Given the description of an element on the screen output the (x, y) to click on. 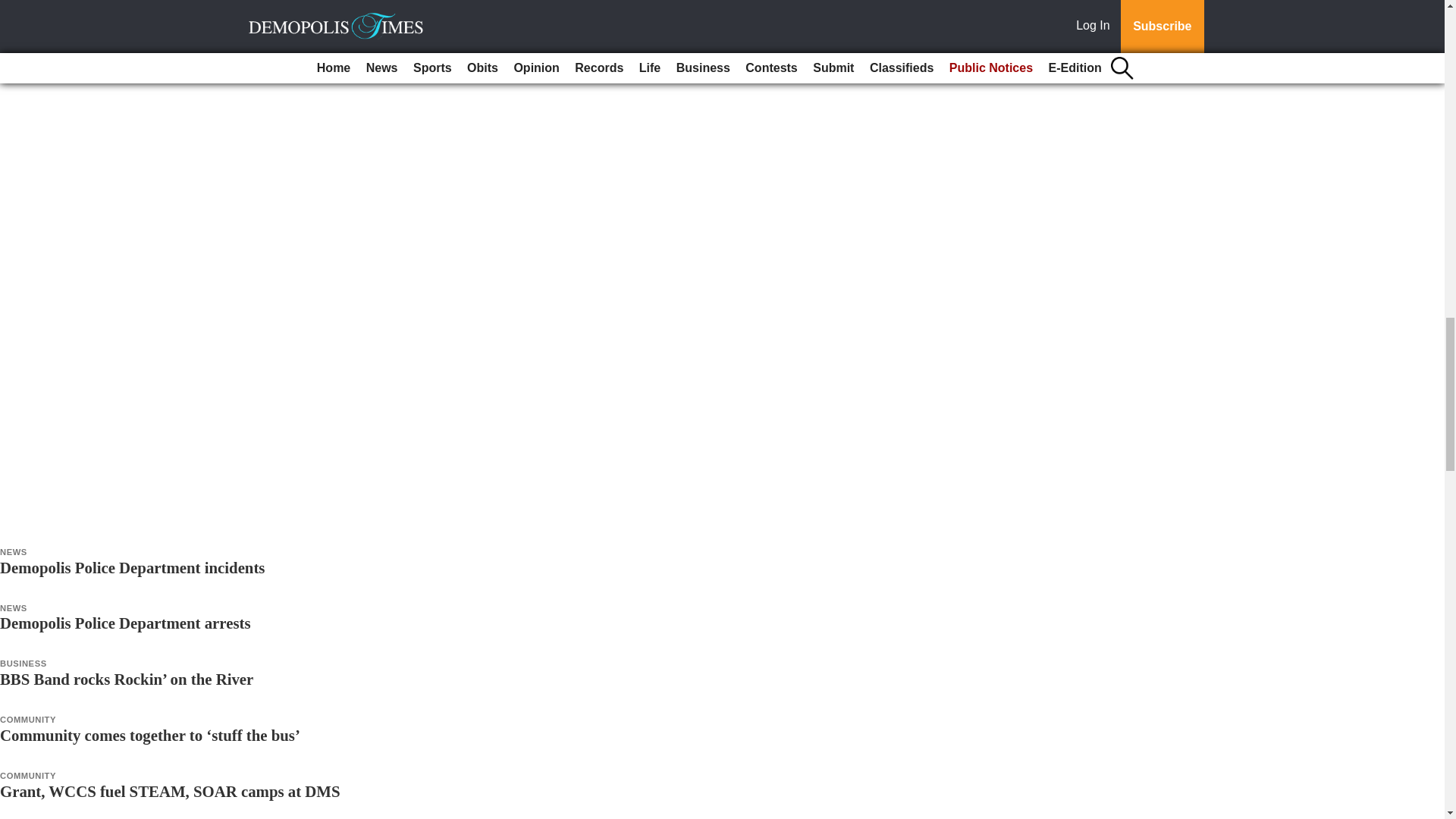
Demopolis Police Department incidents (132, 567)
Demopolis Police Department arrests (125, 622)
Demopolis Police Department arrests (125, 622)
Demopolis Police Department incidents (132, 567)
Grant, WCCS fuel STEAM, SOAR camps at DMS (170, 791)
Grant, WCCS fuel STEAM, SOAR camps at DMS (170, 791)
